Given the description of an element on the screen output the (x, y) to click on. 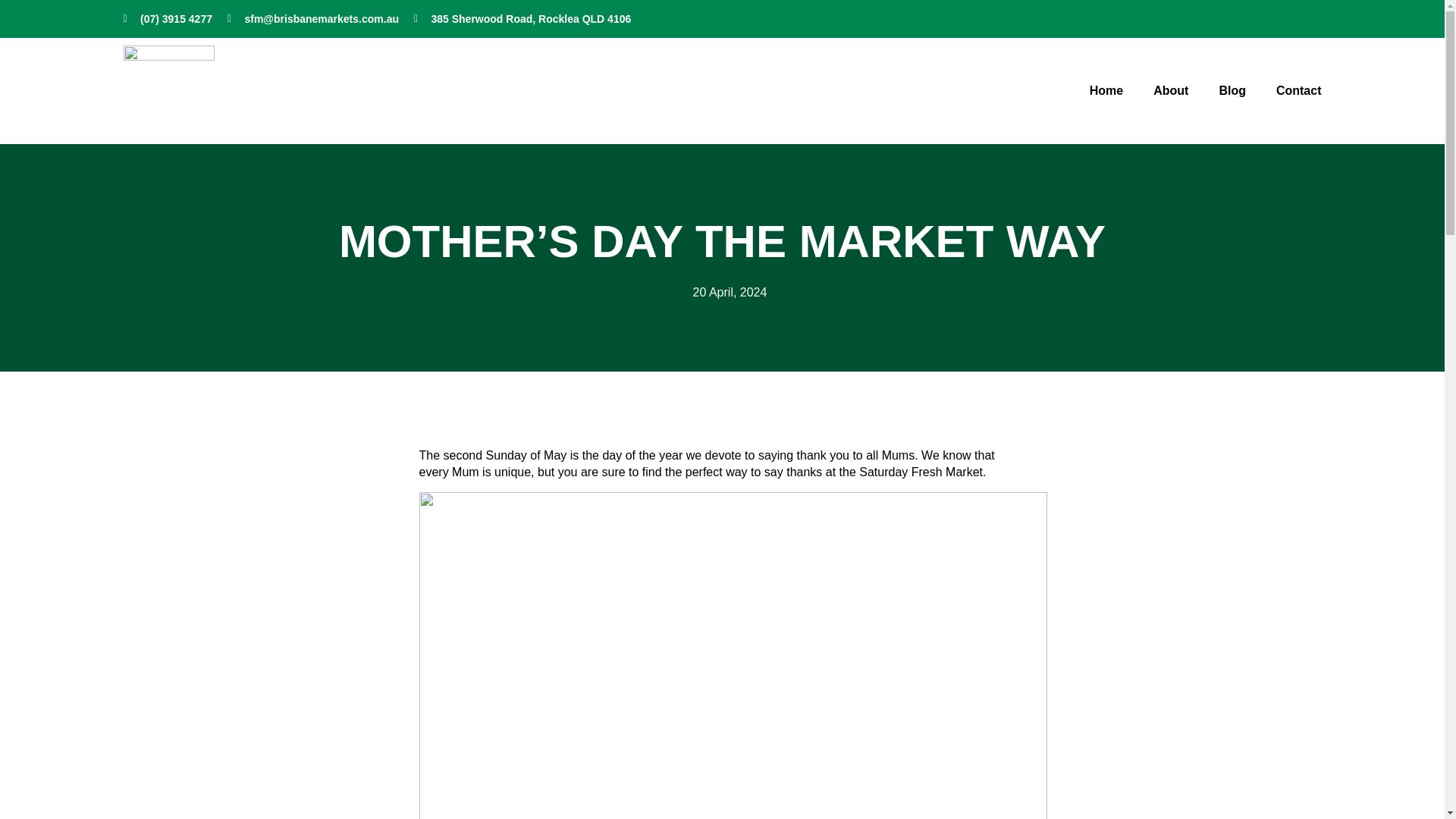
Blog (1232, 90)
Home (1105, 90)
Contact (1299, 90)
About (1170, 90)
